Given the description of an element on the screen output the (x, y) to click on. 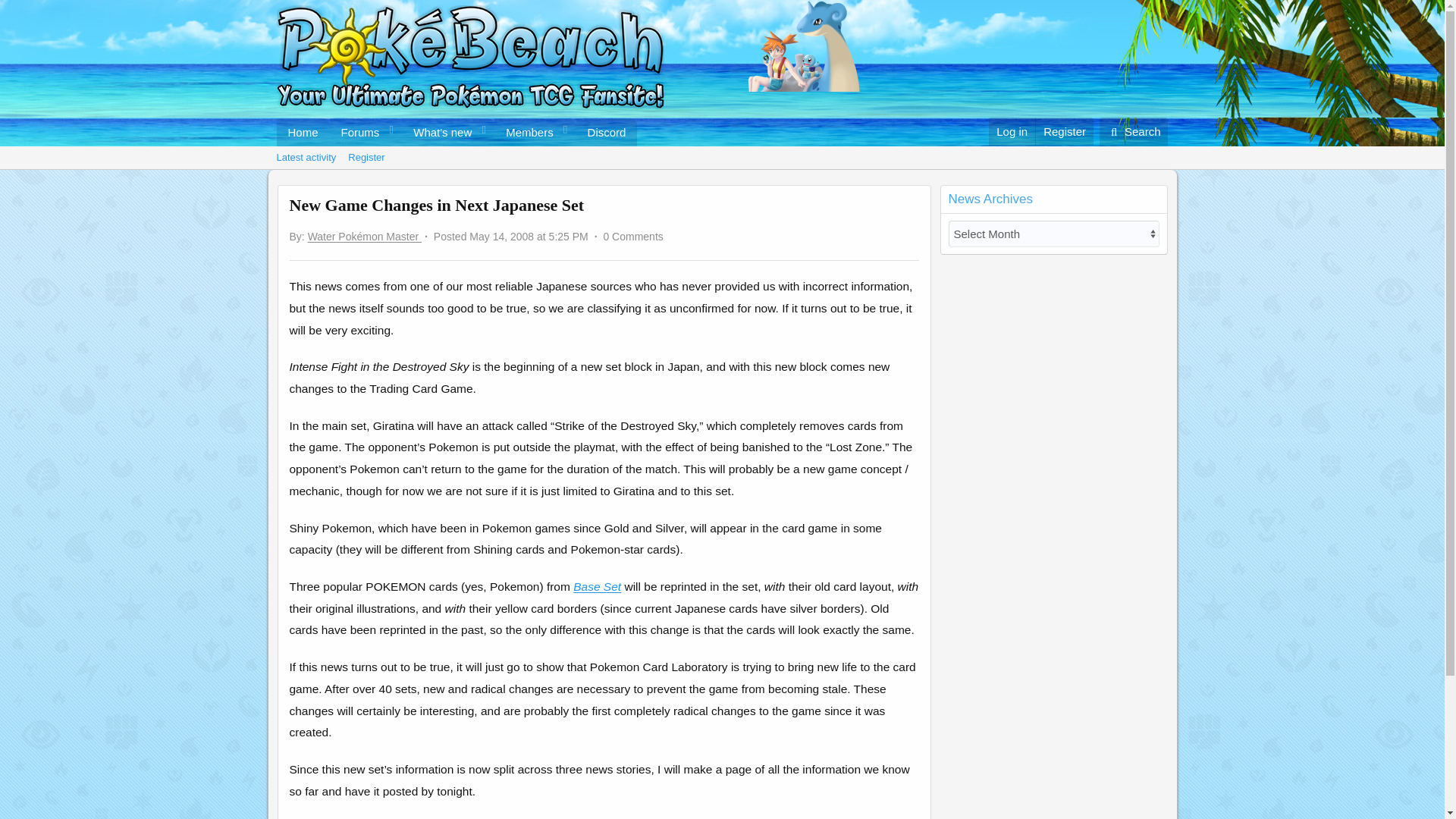
Home (302, 131)
Register (1064, 131)
Forums (355, 131)
Base Set (456, 131)
Members (597, 585)
Discord (524, 131)
Register (606, 131)
Search (366, 157)
Log in (1134, 131)
